Given the description of an element on the screen output the (x, y) to click on. 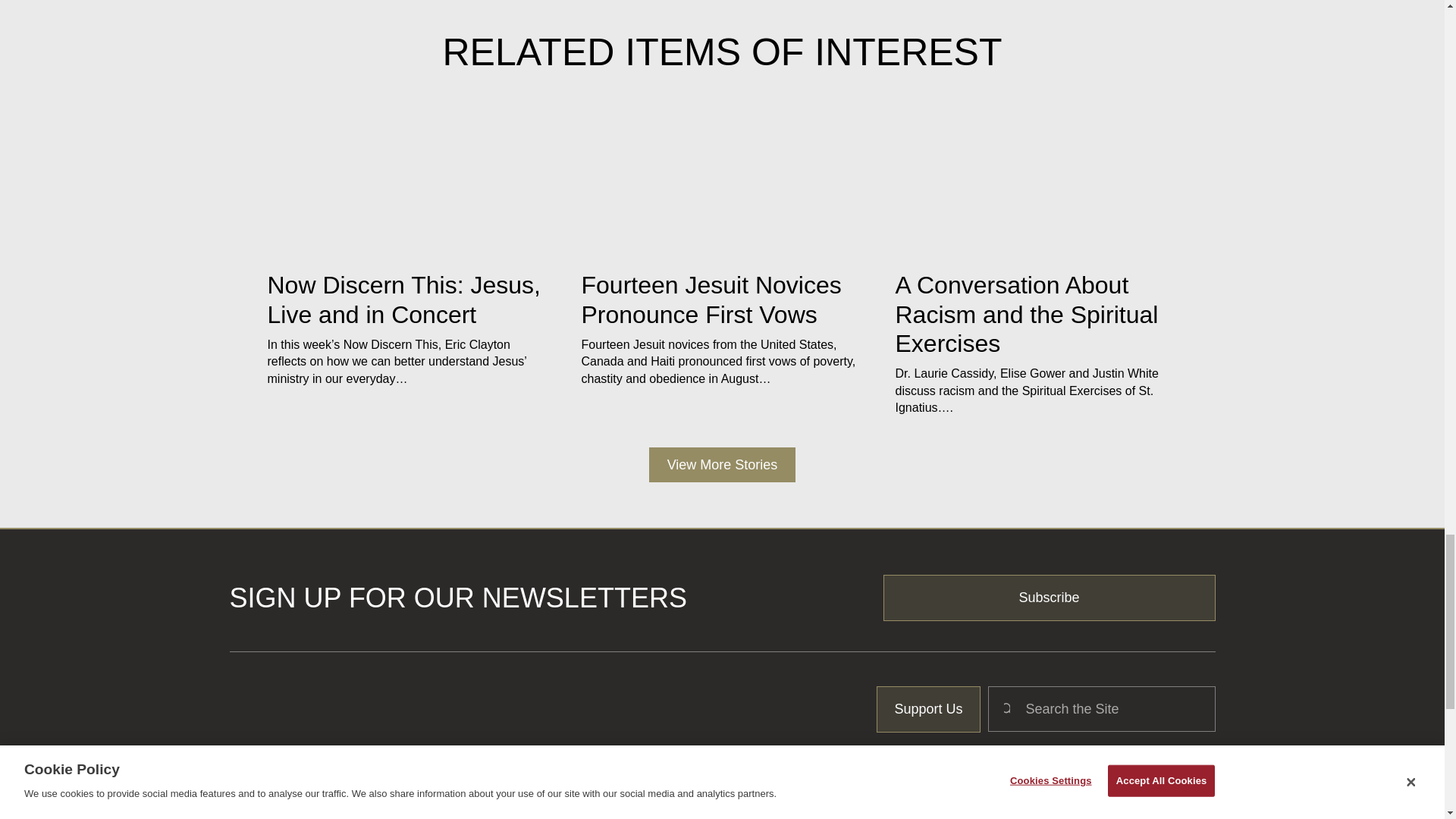
Fourteen Jesuit Novices Pronounce First Vows (710, 299)
Subscribe (1049, 597)
View More Stories (722, 465)
Support Us (927, 709)
A Conversation About Racism and the Spiritual Exercises (1026, 314)
Now Discern This: Jesus, Live and in Concert (403, 299)
